Given the description of an element on the screen output the (x, y) to click on. 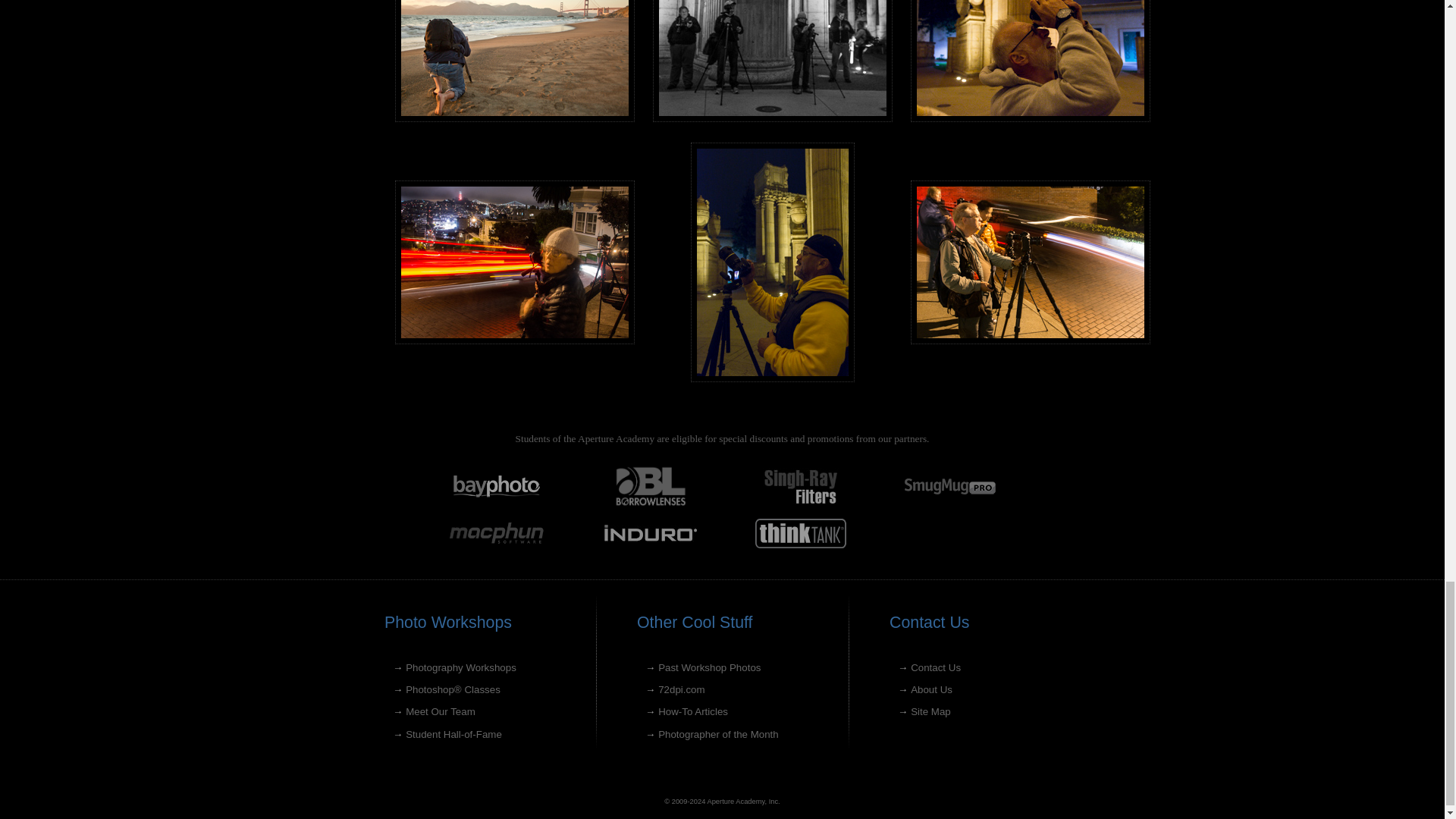
Meet Our Team (441, 711)
About Us (931, 689)
Contact Us (935, 667)
How-To Articles (693, 711)
Photographer of the Month (718, 734)
72dpi.com (681, 689)
Student Hall-of-Fame (454, 734)
Photography Workshops (461, 667)
Past Workshop Photos (709, 667)
Site Map (930, 711)
